Given the description of an element on the screen output the (x, y) to click on. 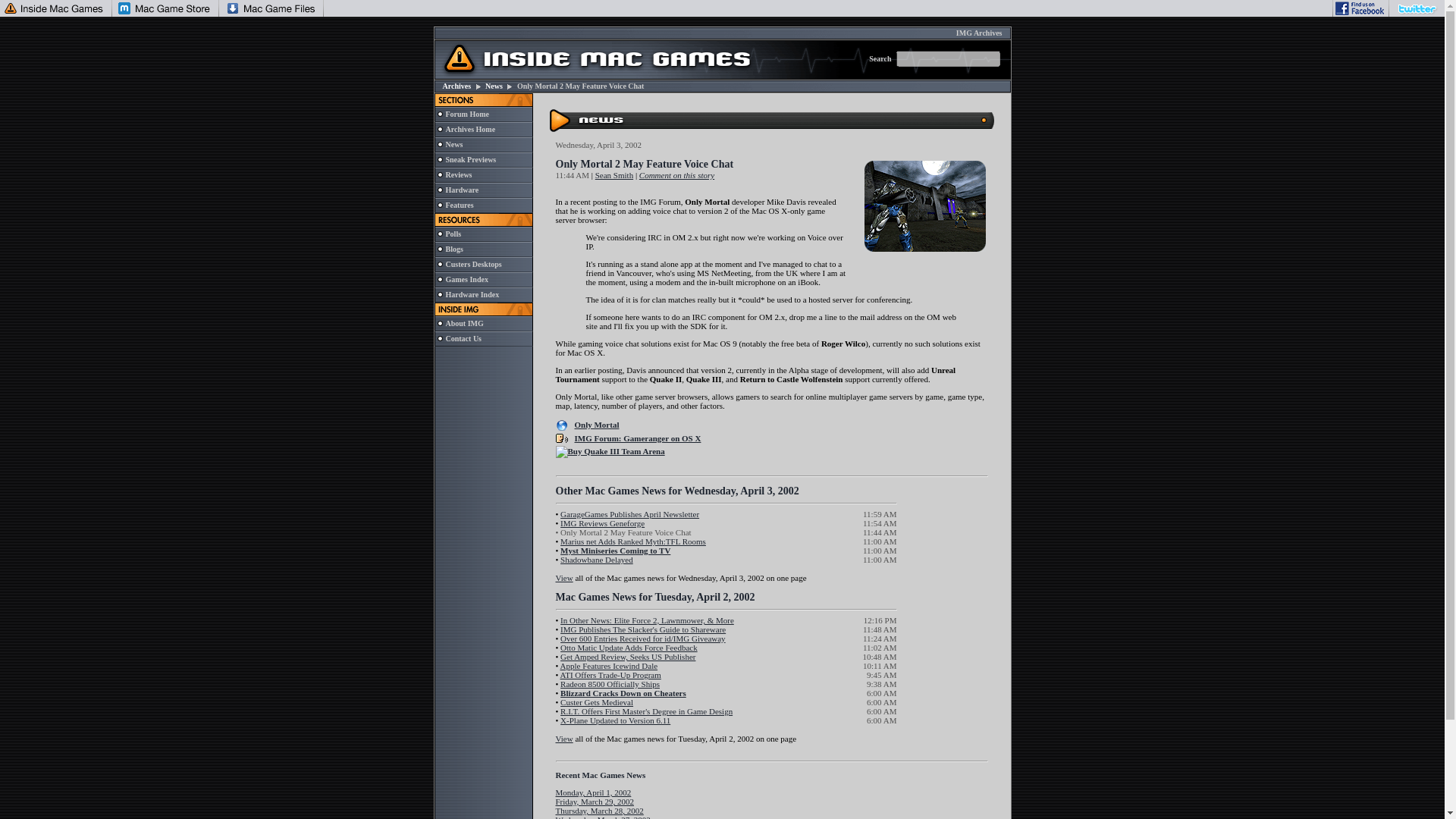
IMG Reviews Geneforge (602, 522)
Blogs (454, 248)
Forum Home (467, 113)
ATI Offers Trade-Up Program (610, 674)
Comment on this story (676, 174)
Custers Desktops (473, 264)
View (563, 577)
Polls (453, 234)
Sneak Previews (470, 159)
Archives Home (470, 129)
Get Amped Review, Seeks US Publisher (627, 655)
Games Index (466, 279)
News (454, 144)
Hardware Index (472, 294)
IMG Forum: Gameranger on OS X (638, 438)
